Given the description of an element on the screen output the (x, y) to click on. 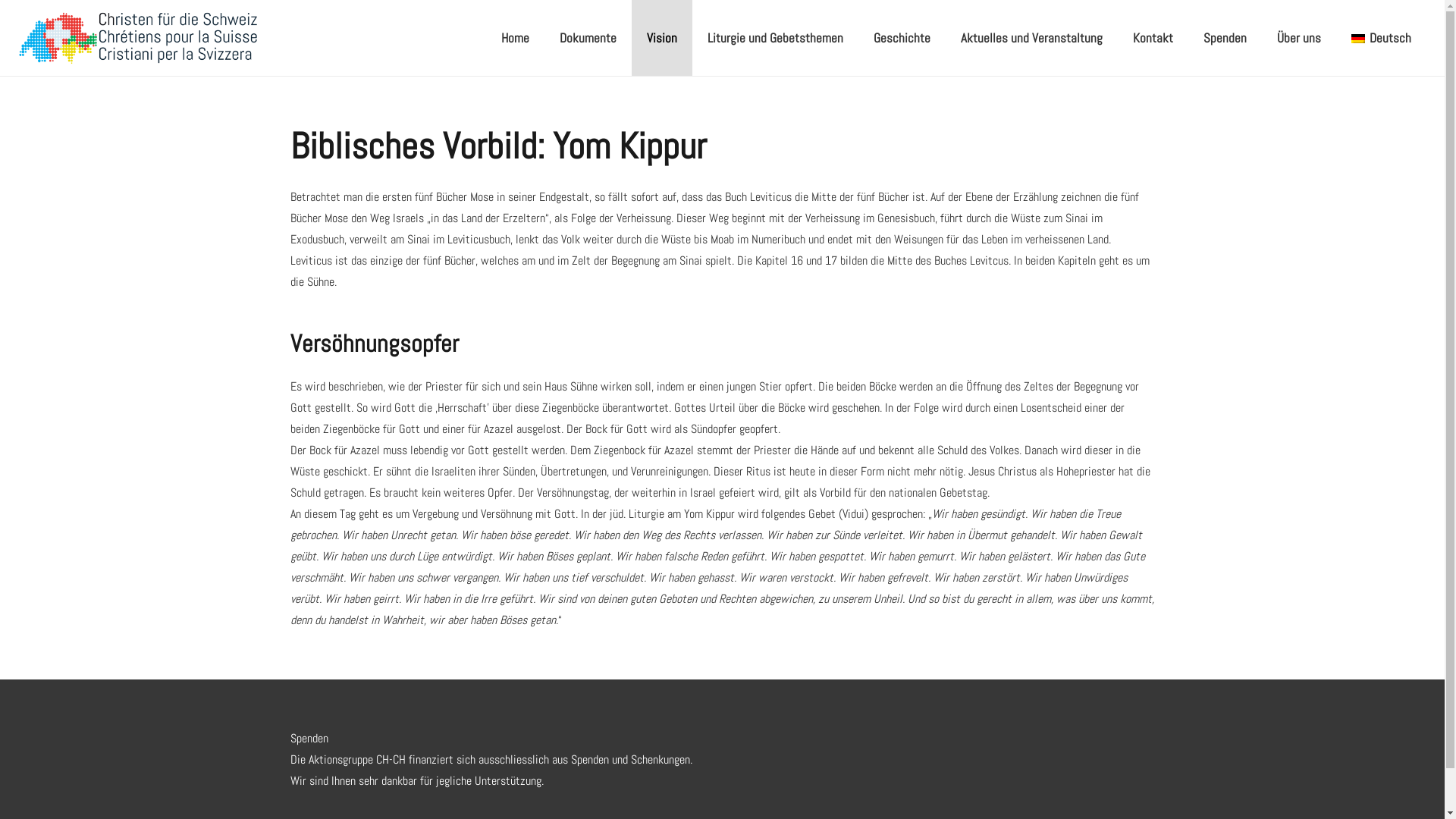
Dokumente Element type: text (587, 37)
Spenden Element type: text (1224, 37)
Liturgie und Gebetsthemen Element type: text (775, 37)
Home Element type: text (515, 37)
Vision Element type: text (661, 37)
Deutsch Element type: text (1381, 37)
Geschichte Element type: text (901, 37)
Kontakt Element type: text (1152, 37)
Aktuelles und Veranstaltung Element type: text (1031, 37)
